Given the description of an element on the screen output the (x, y) to click on. 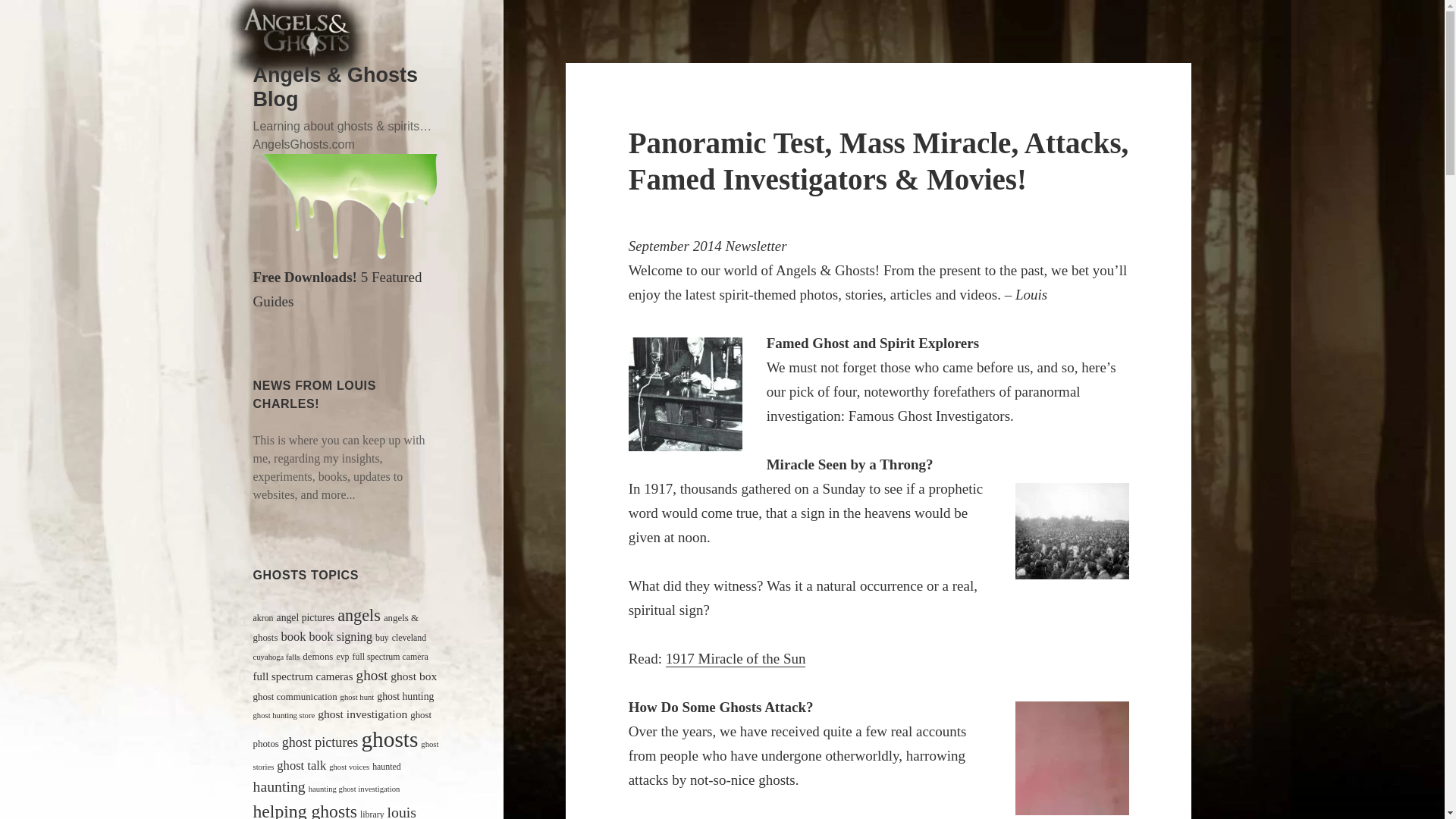
haunted (386, 766)
ghost pictures (320, 742)
library (371, 814)
3 topics (276, 656)
ghost stories (346, 755)
9 topics (413, 675)
angel pictures (305, 617)
ghost talk (301, 765)
4 topics (342, 656)
4 topics (390, 656)
haunting (279, 786)
book (293, 636)
ghost hunting store (284, 715)
helping ghosts (304, 810)
evp (342, 656)
